Given the description of an element on the screen output the (x, y) to click on. 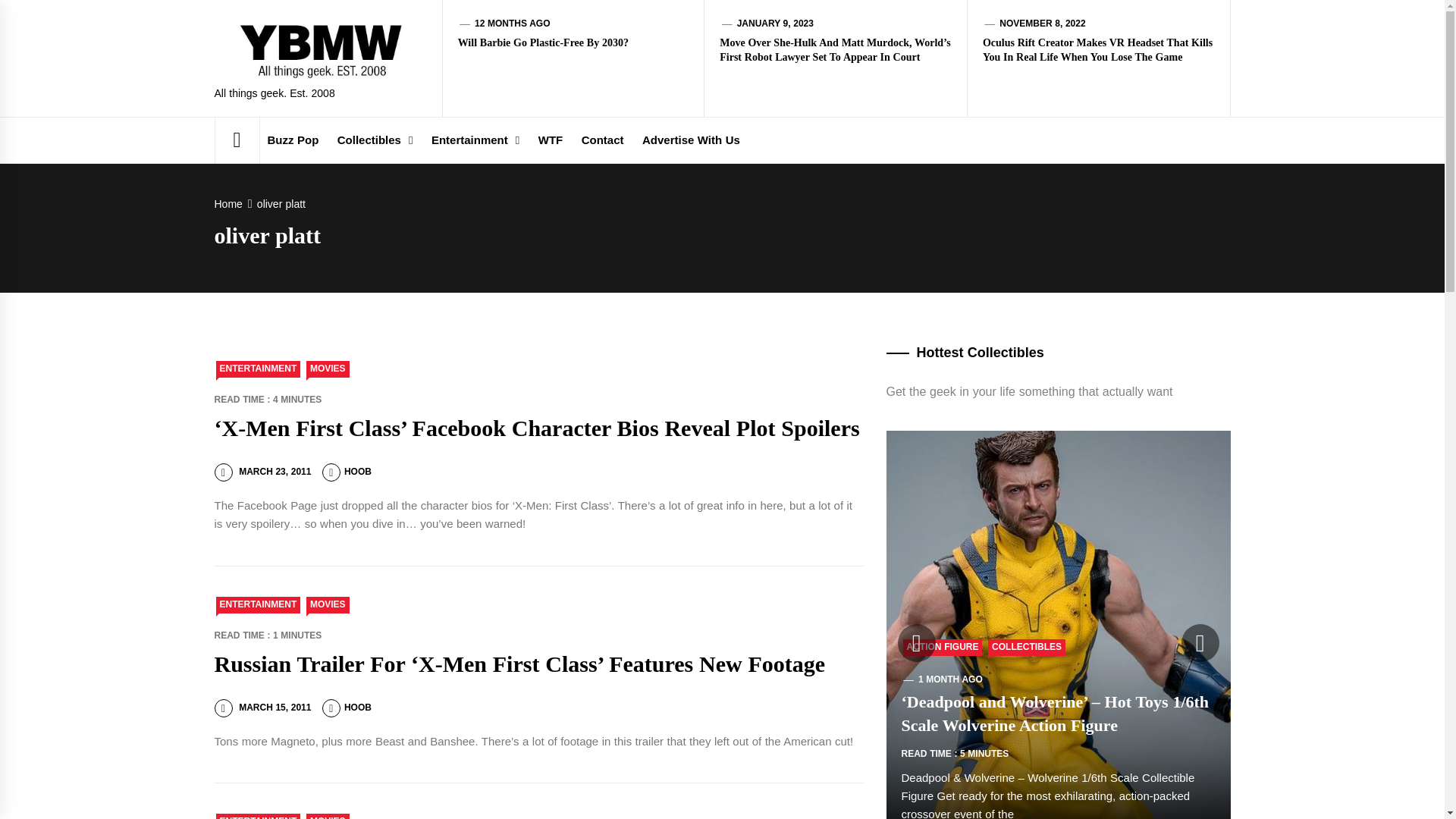
ENTERTAINMENT (257, 605)
MOVIES (327, 816)
Contact (602, 139)
NOVEMBER 8, 2022 (1041, 23)
Buzz Pop (292, 139)
HOOB (346, 706)
Advertise With Us (691, 139)
Entertainment (475, 139)
MOVIES (327, 369)
Will Barbie Go Plastic-Free By 2030? (543, 42)
MARCH 23, 2011 (262, 471)
Home (230, 203)
12 MONTHS AGO (512, 23)
JANUARY 9, 2023 (774, 23)
